Given the description of an element on the screen output the (x, y) to click on. 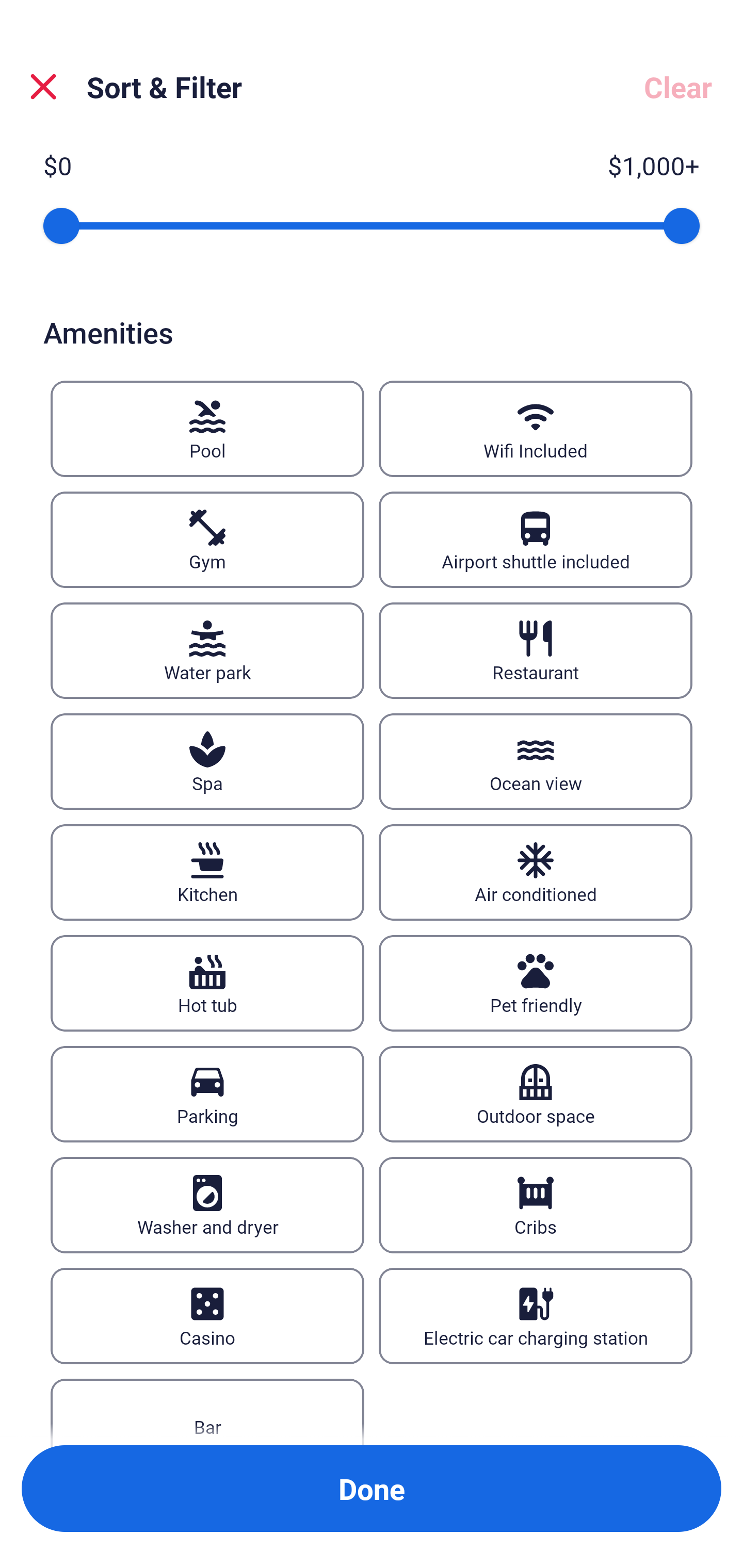
Close Sort and Filter (43, 86)
Clear (677, 86)
Pool (207, 428)
Wifi Included (535, 428)
Gym (207, 539)
Airport shuttle included (535, 539)
Water park (207, 650)
Restaurant (535, 650)
Spa (207, 761)
Ocean view (535, 761)
Kitchen (207, 872)
Air conditioned (535, 872)
Hot tub (207, 982)
Pet friendly (535, 982)
Parking (207, 1094)
Outdoor space (535, 1094)
Washer and dryer (207, 1204)
Cribs (535, 1204)
Casino (207, 1316)
Electric car charging station (535, 1316)
Bar (207, 1411)
Apply and close Sort and Filter Done (371, 1488)
